Given the description of an element on the screen output the (x, y) to click on. 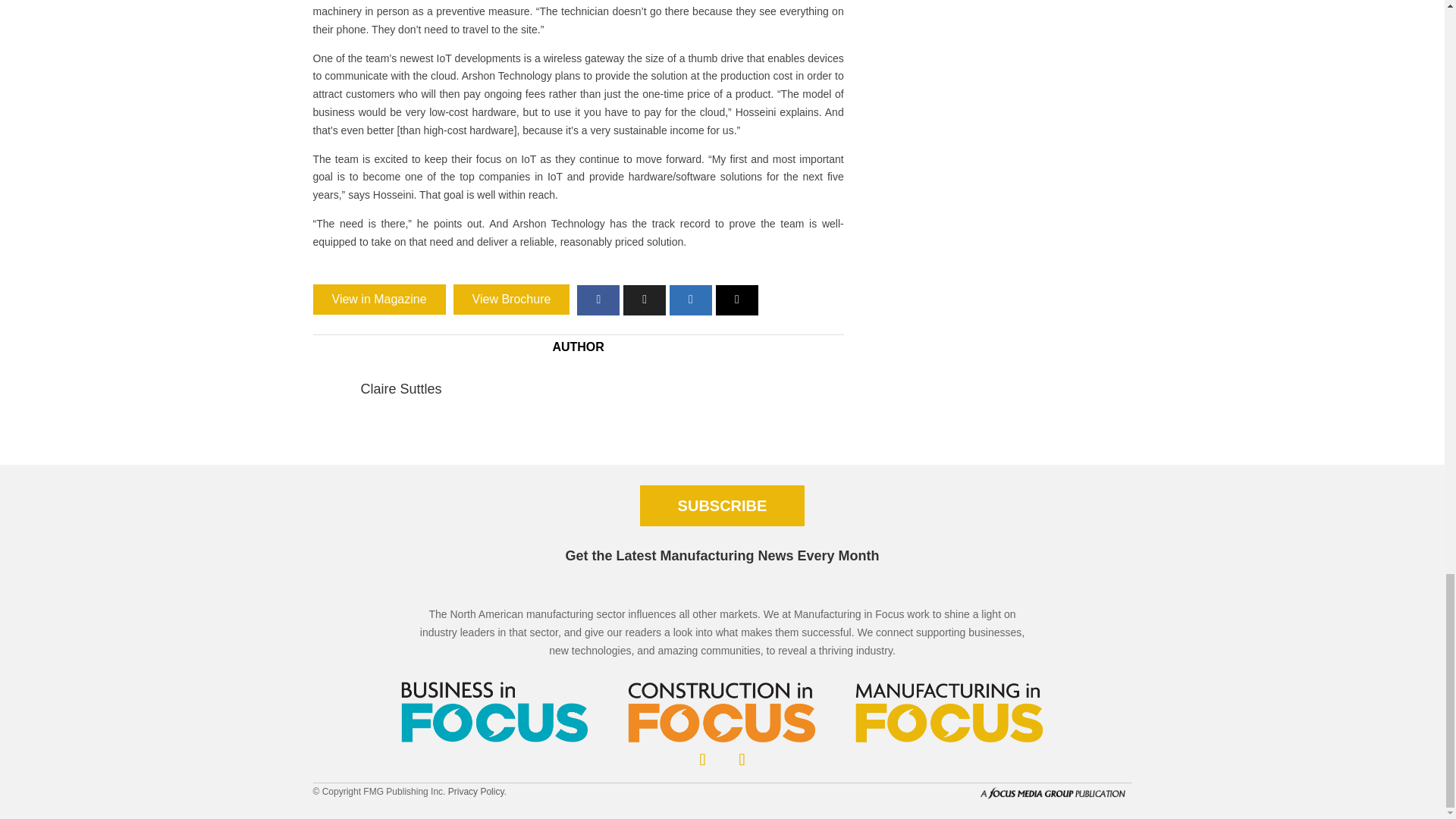
SUBSCRIBE (722, 505)
Follow on LinkedIn (702, 759)
fmg-footer (1053, 792)
View in Magazine (379, 299)
Claire Suttles (401, 388)
View Brochure (511, 299)
Follow on Instagram (741, 759)
